Given the description of an element on the screen output the (x, y) to click on. 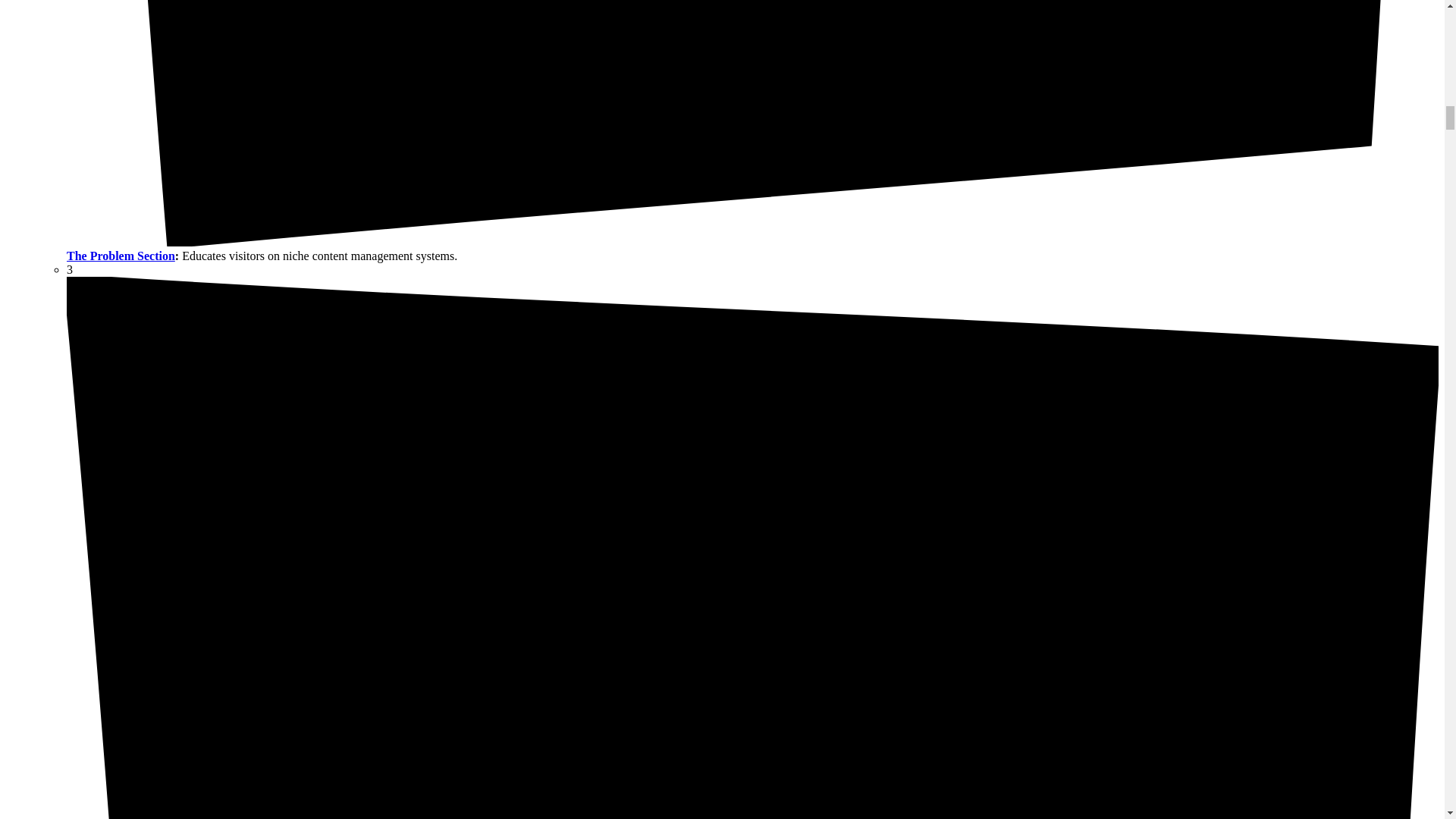
The Problem Section (120, 255)
Couch Gamers - The Problem (120, 255)
